Given the description of an element on the screen output the (x, y) to click on. 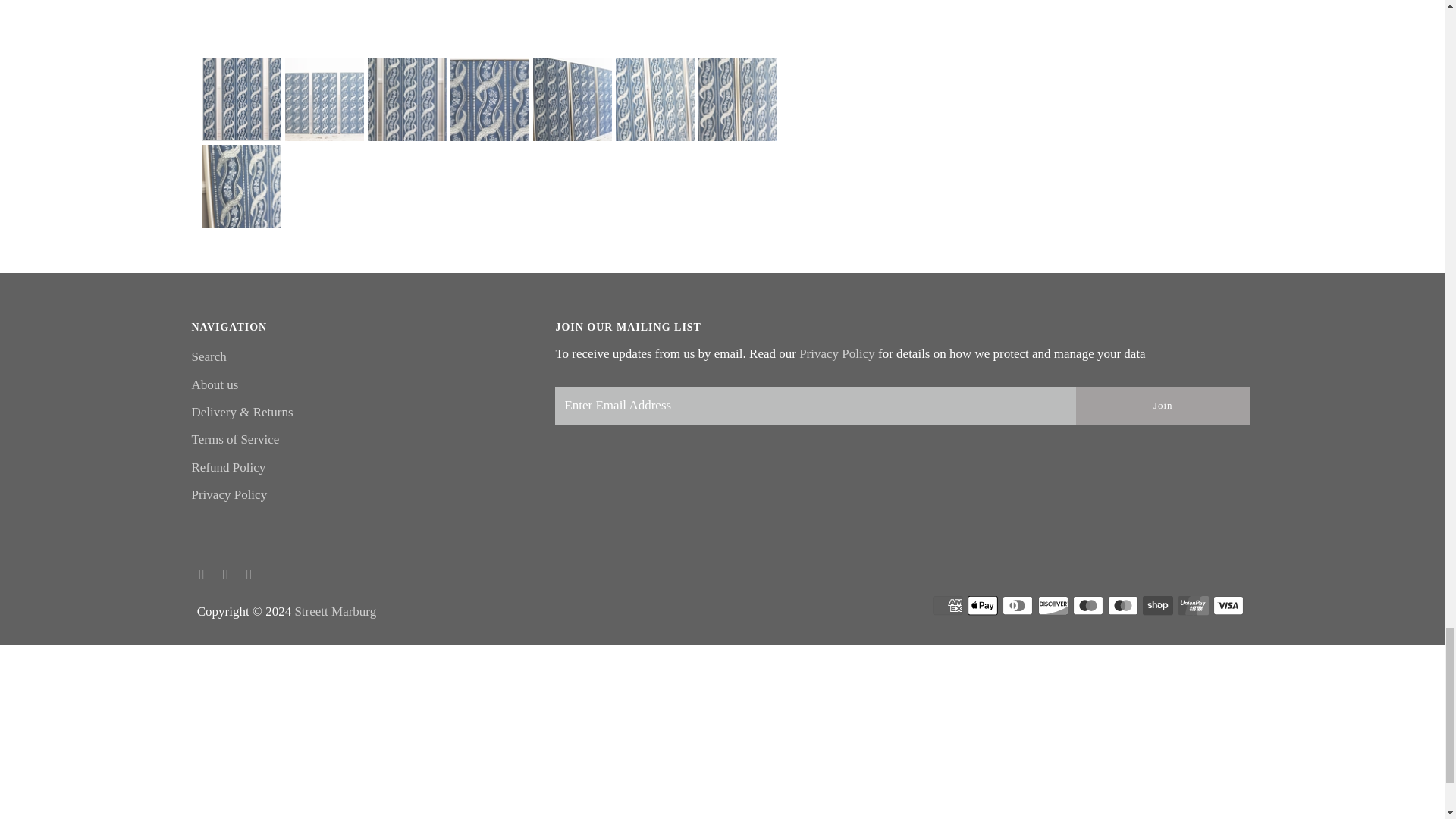
Mastercard (1123, 605)
Maestro (1088, 605)
Shop Pay (1157, 605)
Apple Pay (982, 605)
Union Pay (1192, 605)
American Express (947, 605)
Diners Club (1017, 605)
Discover (1053, 605)
Join (1162, 405)
Visa (1227, 605)
